Given the description of an element on the screen output the (x, y) to click on. 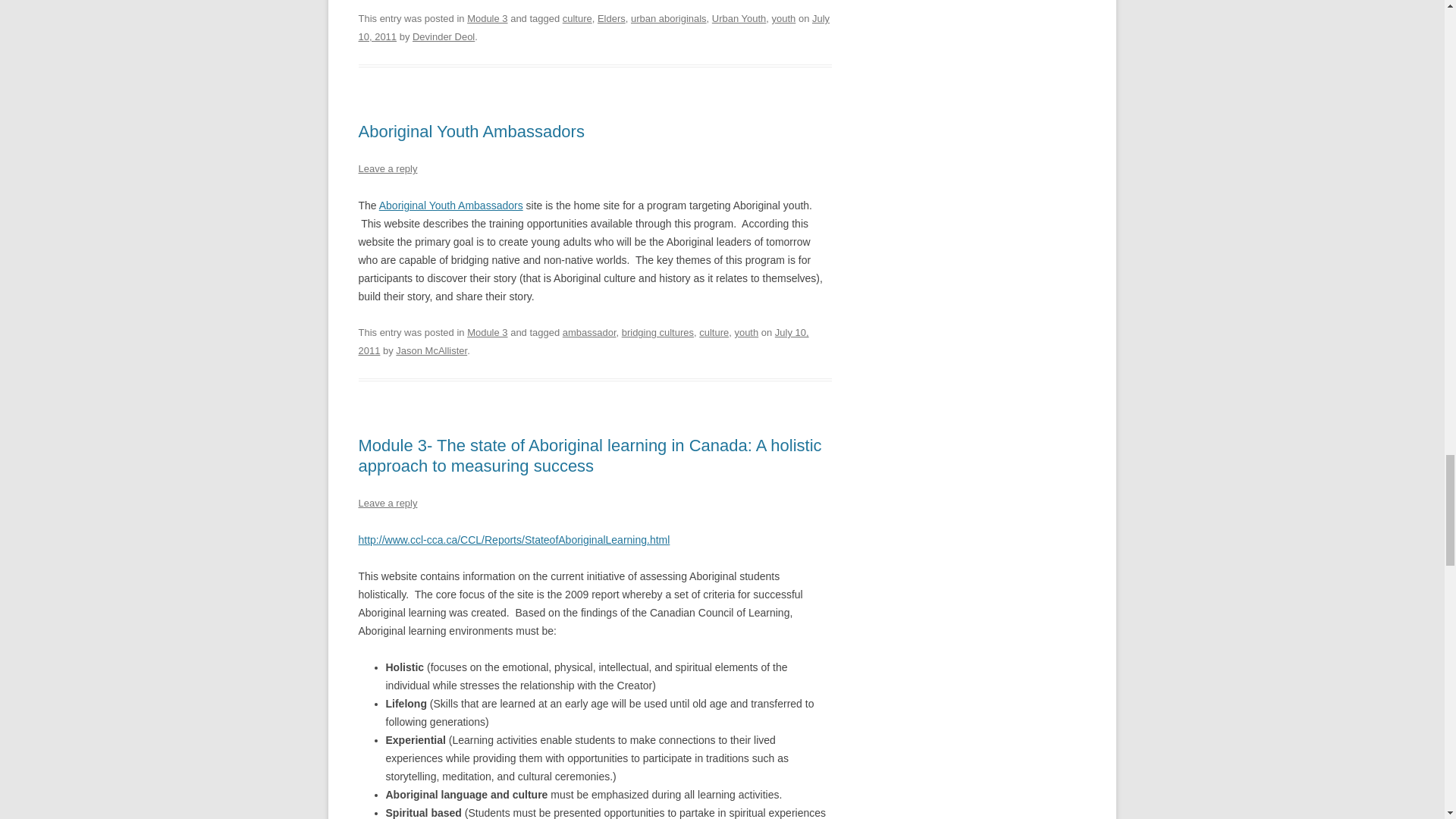
11:05 pm (593, 27)
6:09 pm (583, 341)
View all posts by Devinder Deol (443, 36)
View all posts by Jason McAllister (431, 350)
